Given the description of an element on the screen output the (x, y) to click on. 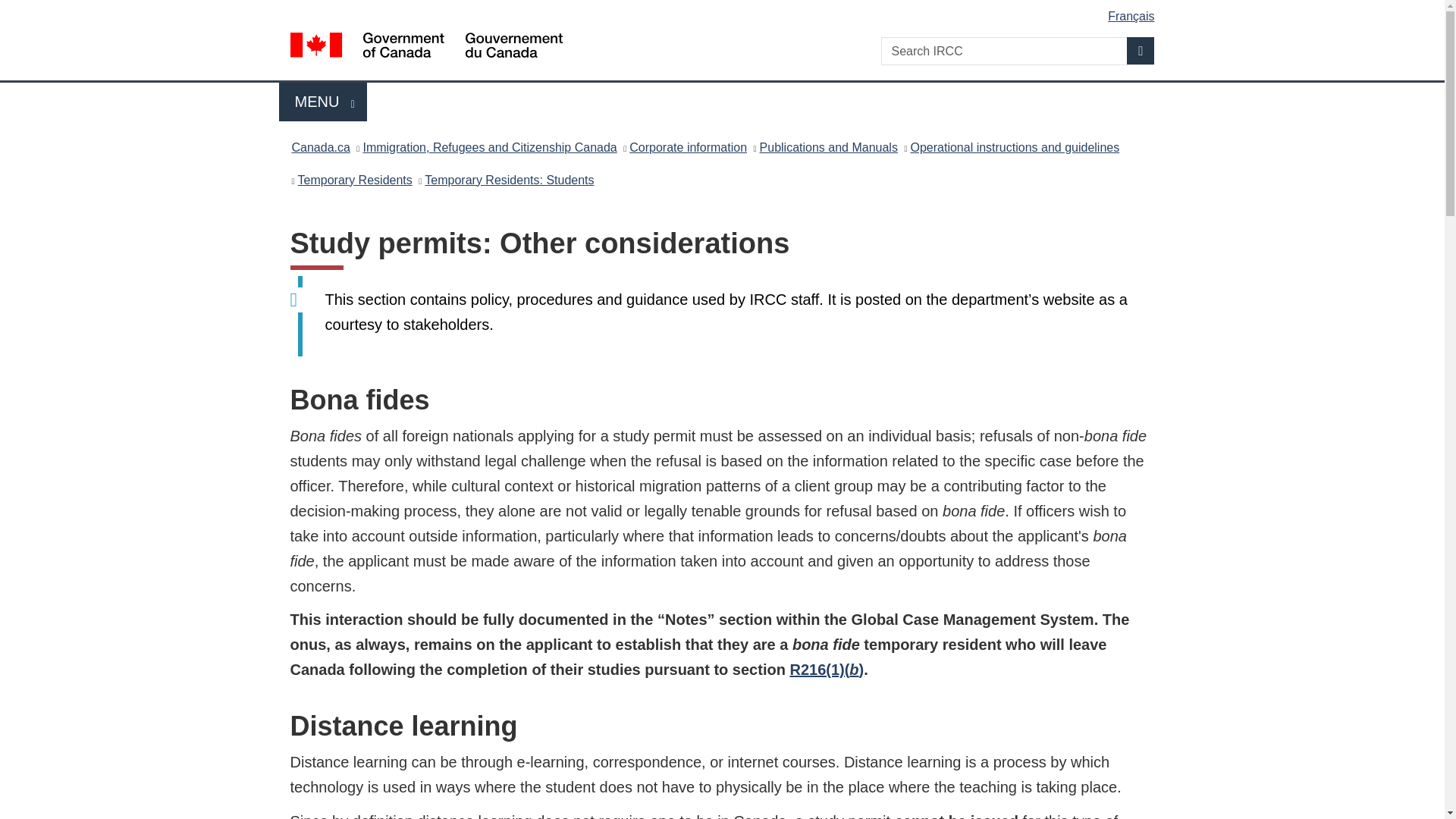
Skip to main content (725, 11)
Search (1140, 50)
Temporary Residents: Students (509, 179)
Corporate information (687, 147)
Immigration, Refugees and Citizenship Canada (488, 147)
Temporary Residents (355, 179)
Publications and Manuals (322, 101)
Operational instructions and guidelines (829, 147)
Canada.ca (1014, 147)
